Given the description of an element on the screen output the (x, y) to click on. 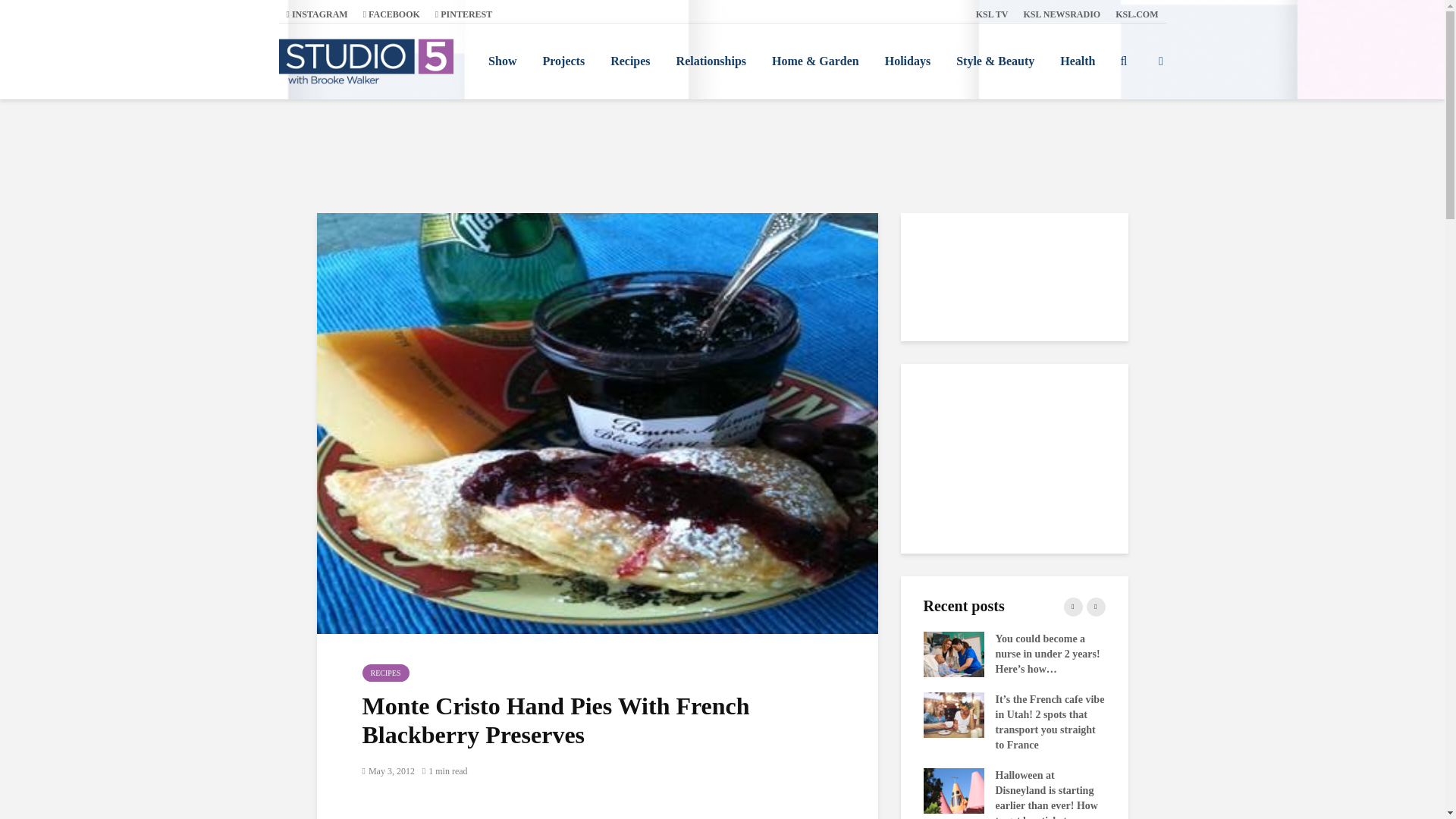
Relationships (711, 60)
Projects (563, 60)
Recipes (629, 60)
Health (1077, 60)
Holidays (907, 60)
Tech Check: 4 modern-day tech pioneers right here in Utah (771, 653)
INSTAGRAM (317, 14)
FACEBOOK (391, 14)
KSL.COM (1137, 14)
PINTEREST (463, 14)
3rd party ad content (721, 156)
3rd party ad content (1014, 458)
Utah at the Olympics: 5 local connections to the Paris Games (589, 789)
